Given the description of an element on the screen output the (x, y) to click on. 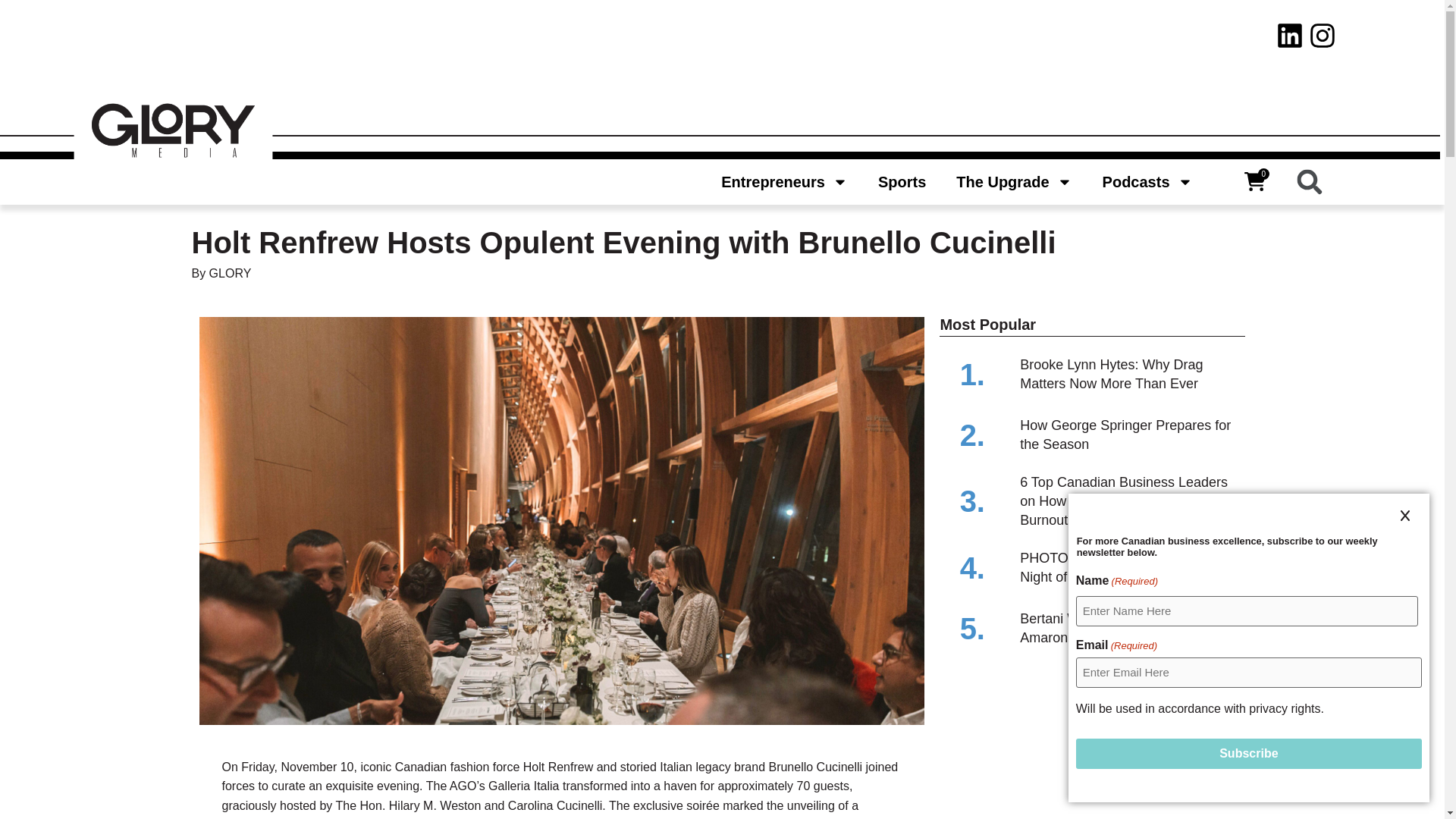
Sports (916, 181)
Podcasts (1162, 181)
Entrepreneurs (798, 181)
Subscribe (1248, 753)
The Upgrade (1029, 181)
